Given the description of an element on the screen output the (x, y) to click on. 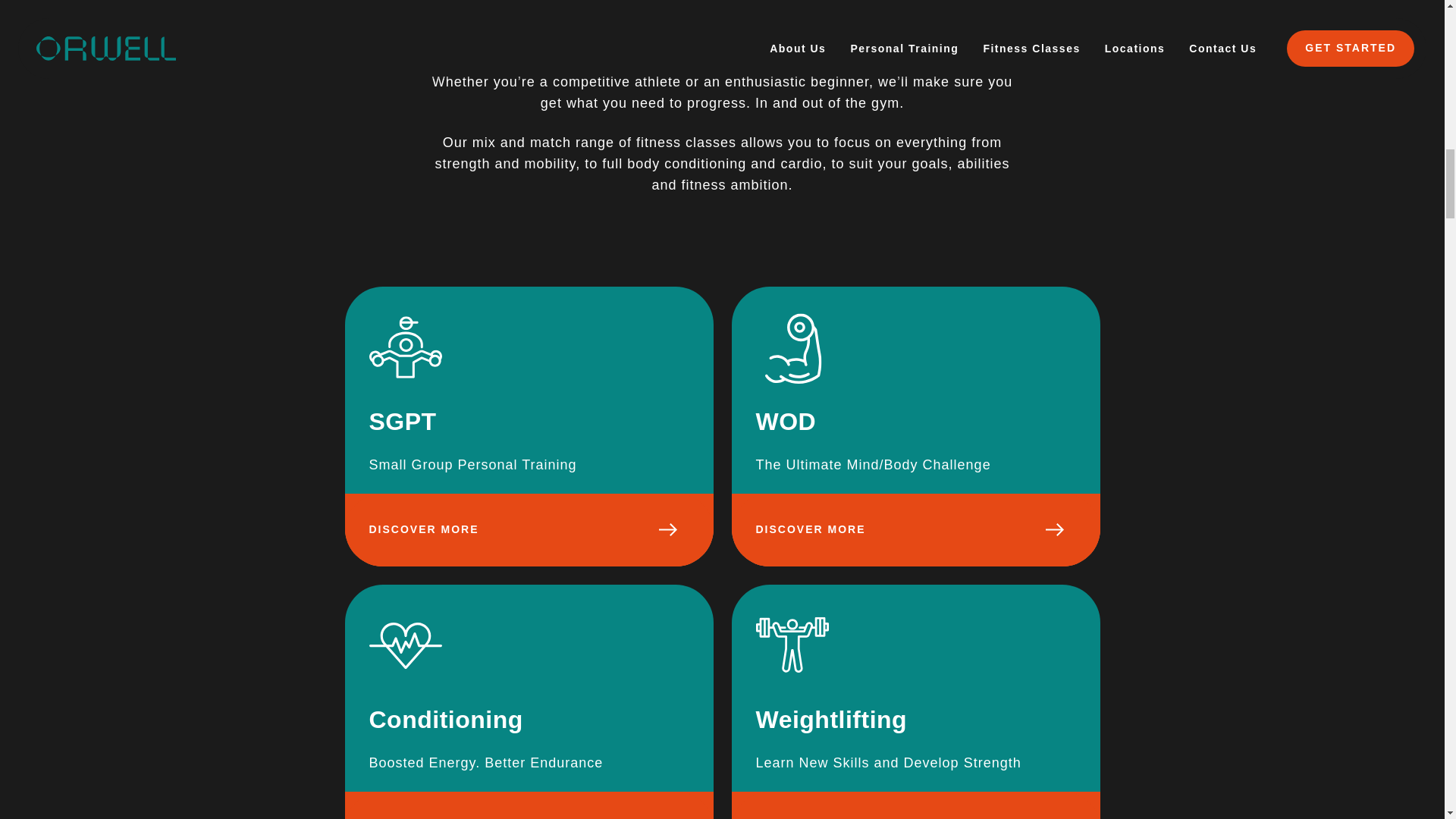
DISCOVER MORE (528, 529)
DISCOVER MORE (914, 529)
DISCOVER MORE (528, 805)
DISCOVER MORE (914, 805)
